Given the description of an element on the screen output the (x, y) to click on. 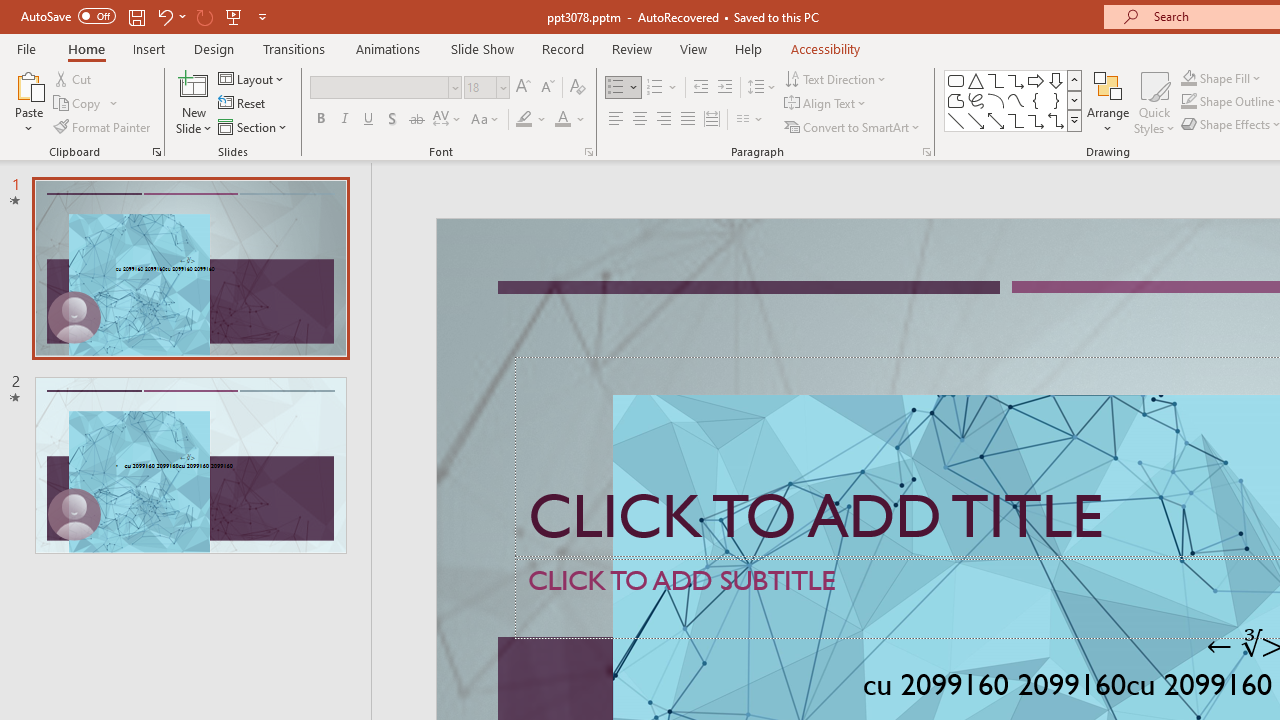
Shape Fill (1221, 78)
Center (639, 119)
Shadow (392, 119)
Slide (190, 465)
Text Highlight Color Yellow (524, 119)
Copy (85, 103)
Connector: Elbow Arrow (1035, 120)
Open (502, 87)
Format Painter (103, 126)
Font Color (569, 119)
Strikethrough (416, 119)
Bullets (623, 87)
